Given the description of an element on the screen output the (x, y) to click on. 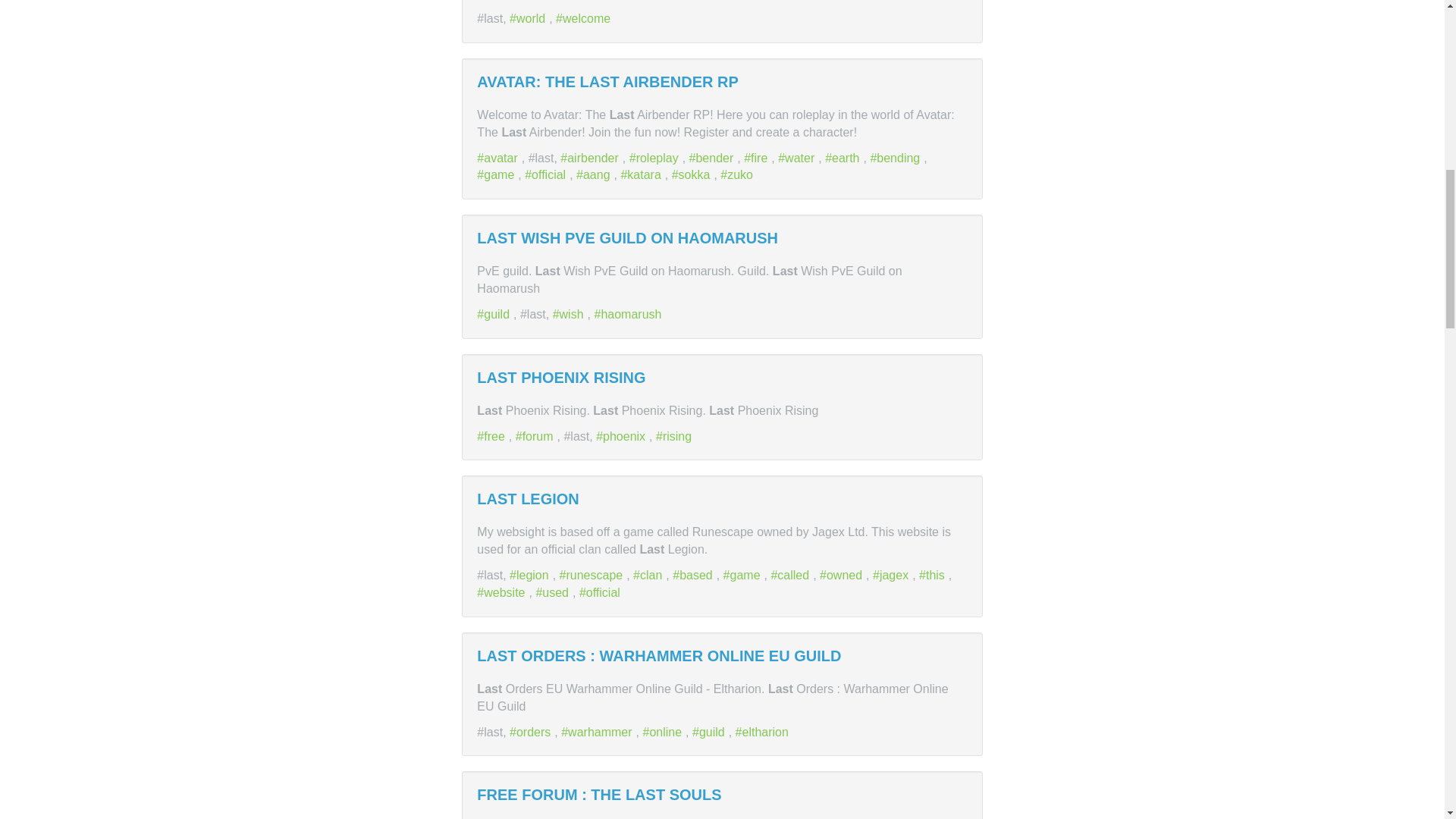
world (528, 18)
